Given the description of an element on the screen output the (x, y) to click on. 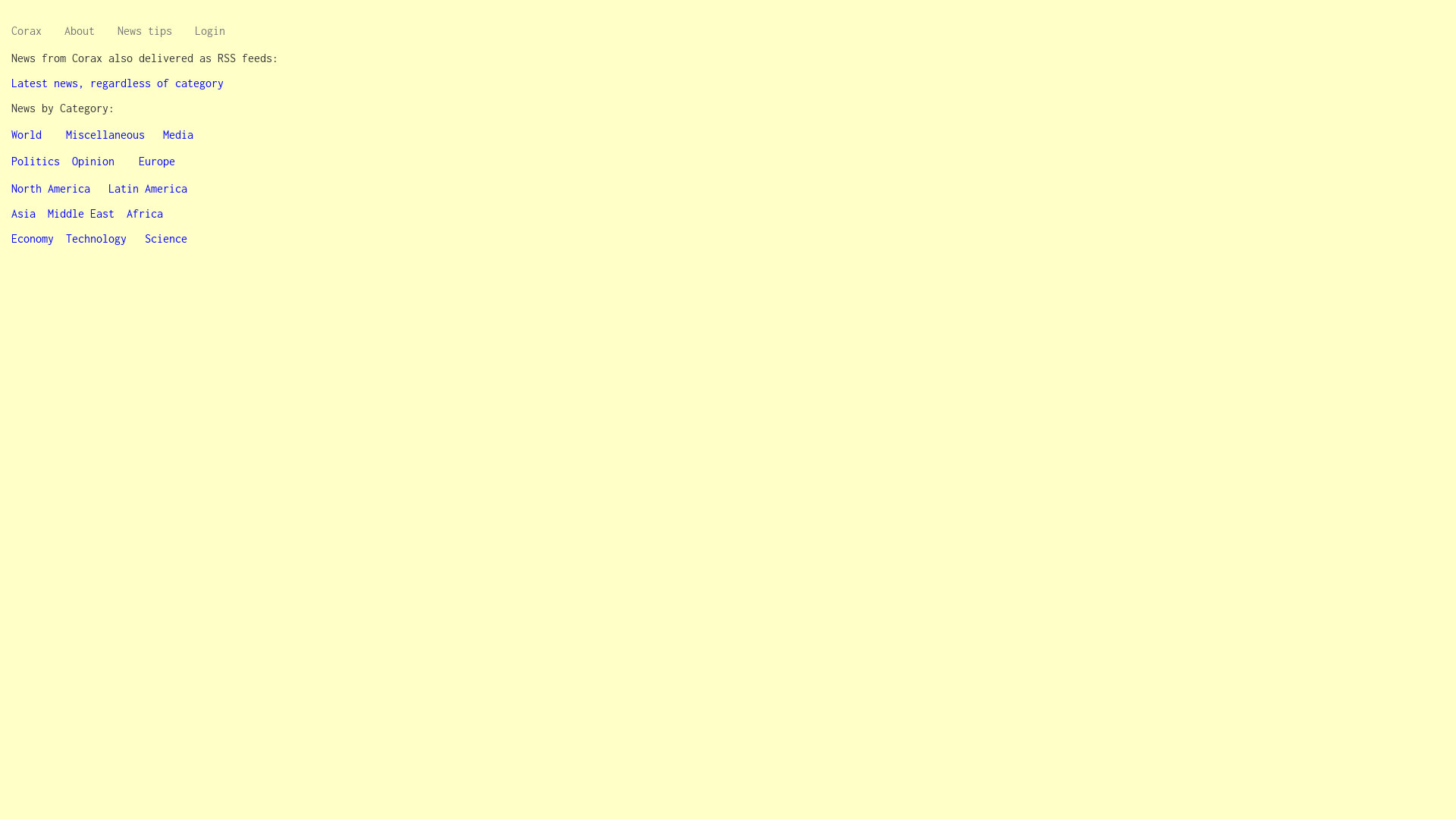
Economy Element type: text (32, 238)
Africa Element type: text (144, 213)
North America Element type: text (50, 188)
Login Element type: text (209, 31)
News tips Element type: text (144, 31)
Asia Element type: text (23, 213)
Middle East Element type: text (80, 213)
Opinion Element type: text (93, 160)
Europe Element type: text (156, 160)
Politics Element type: text (35, 160)
Corax Element type: text (26, 31)
Latest news, regardless of category Element type: text (117, 82)
About Element type: text (79, 31)
Media Element type: text (178, 134)
Science Element type: text (165, 238)
Latin America Element type: text (147, 188)
Miscellaneous Element type: text (104, 134)
Technology Element type: text (95, 238)
World Element type: text (26, 134)
Skip to main content Element type: text (0, 12)
